Given the description of an element on the screen output the (x, y) to click on. 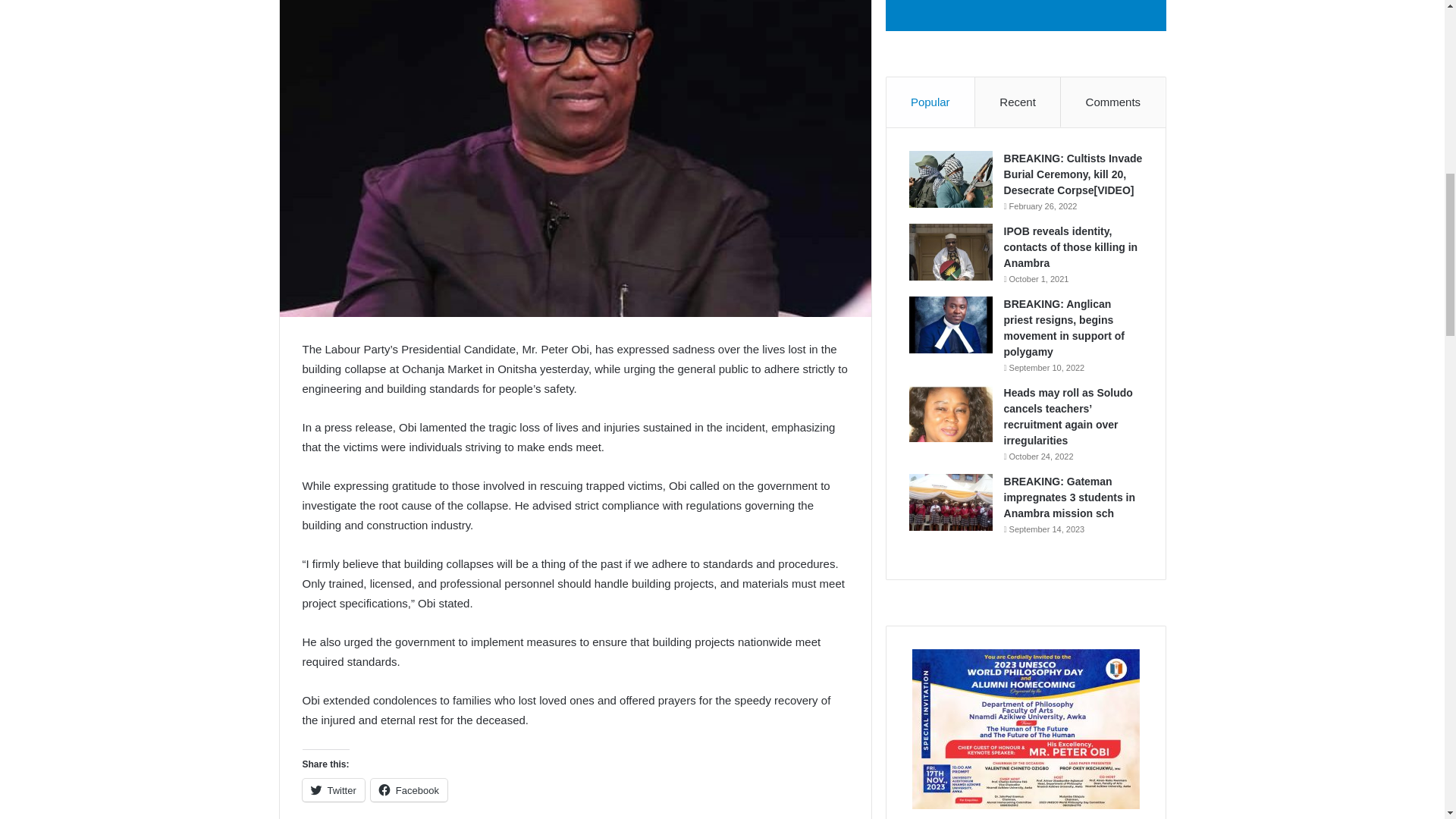
Twitter (332, 789)
Facebook (408, 789)
